Given the description of an element on the screen output the (x, y) to click on. 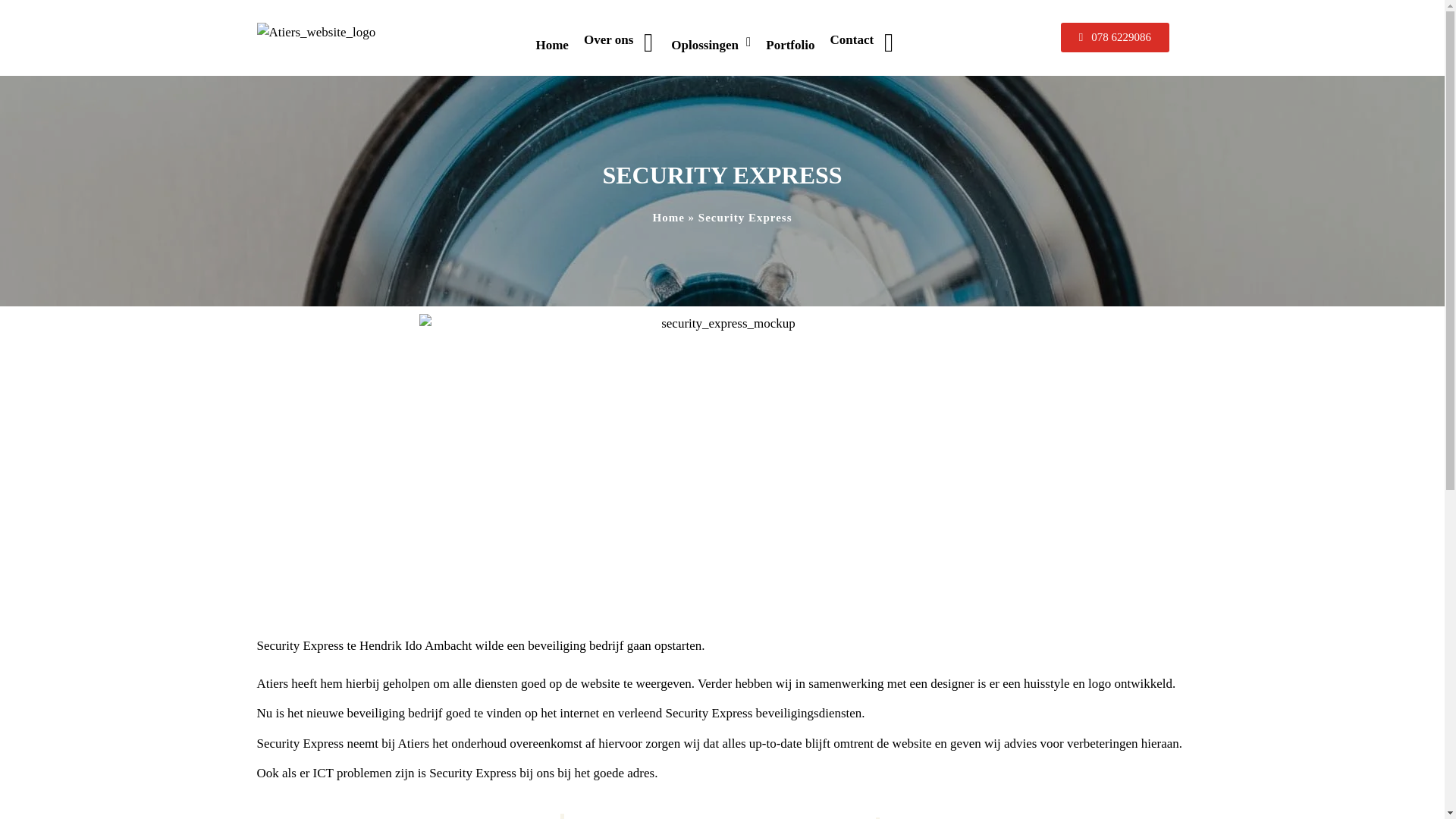
Home (668, 217)
Over ons (619, 44)
Home (551, 44)
Contact (863, 44)
Oplossingen (710, 44)
078 6229086 (1115, 37)
Portfolio (790, 44)
